Given the description of an element on the screen output the (x, y) to click on. 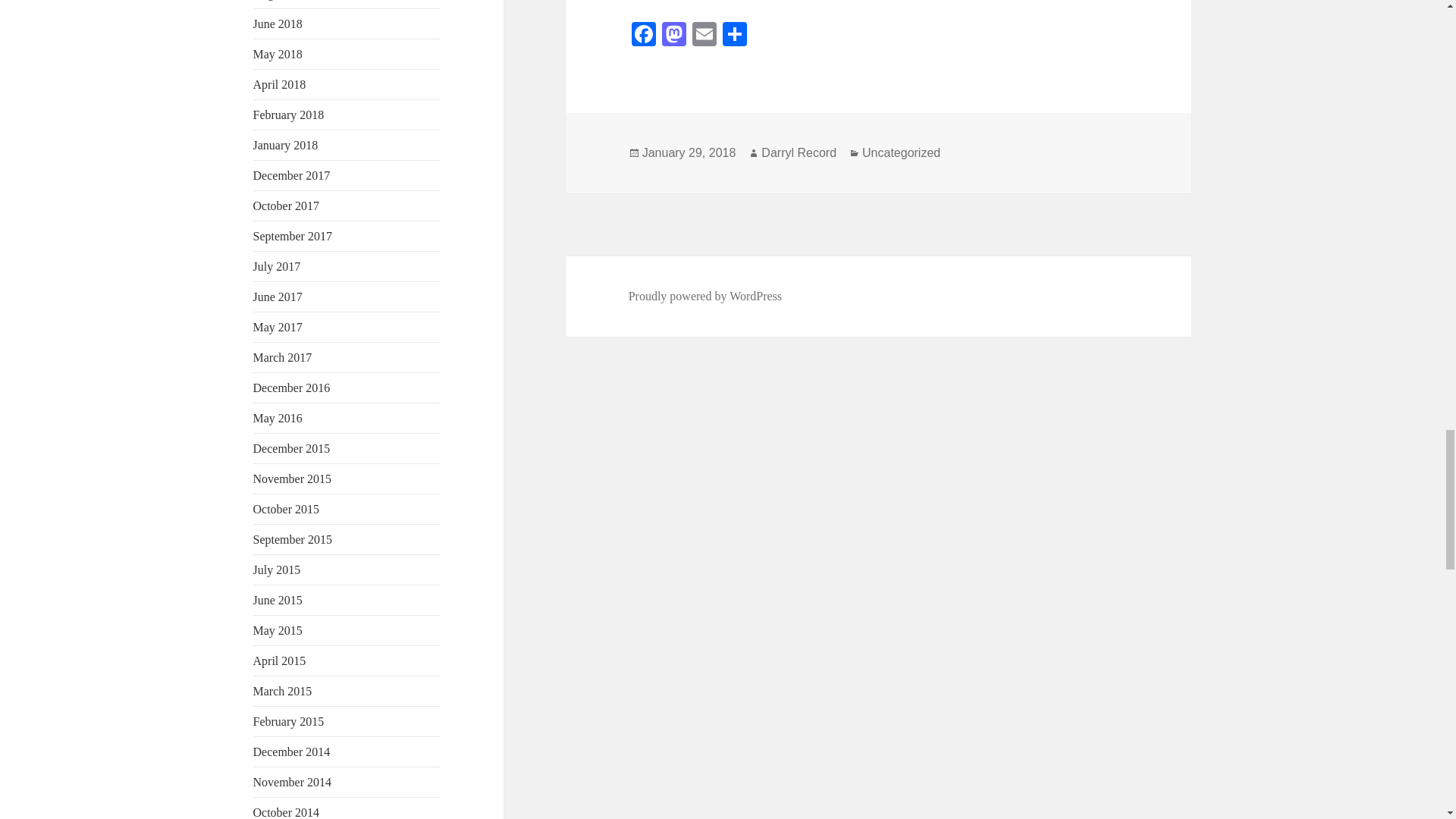
Facebook (643, 35)
Email (703, 35)
Mastodon (673, 35)
